Given the description of an element on the screen output the (x, y) to click on. 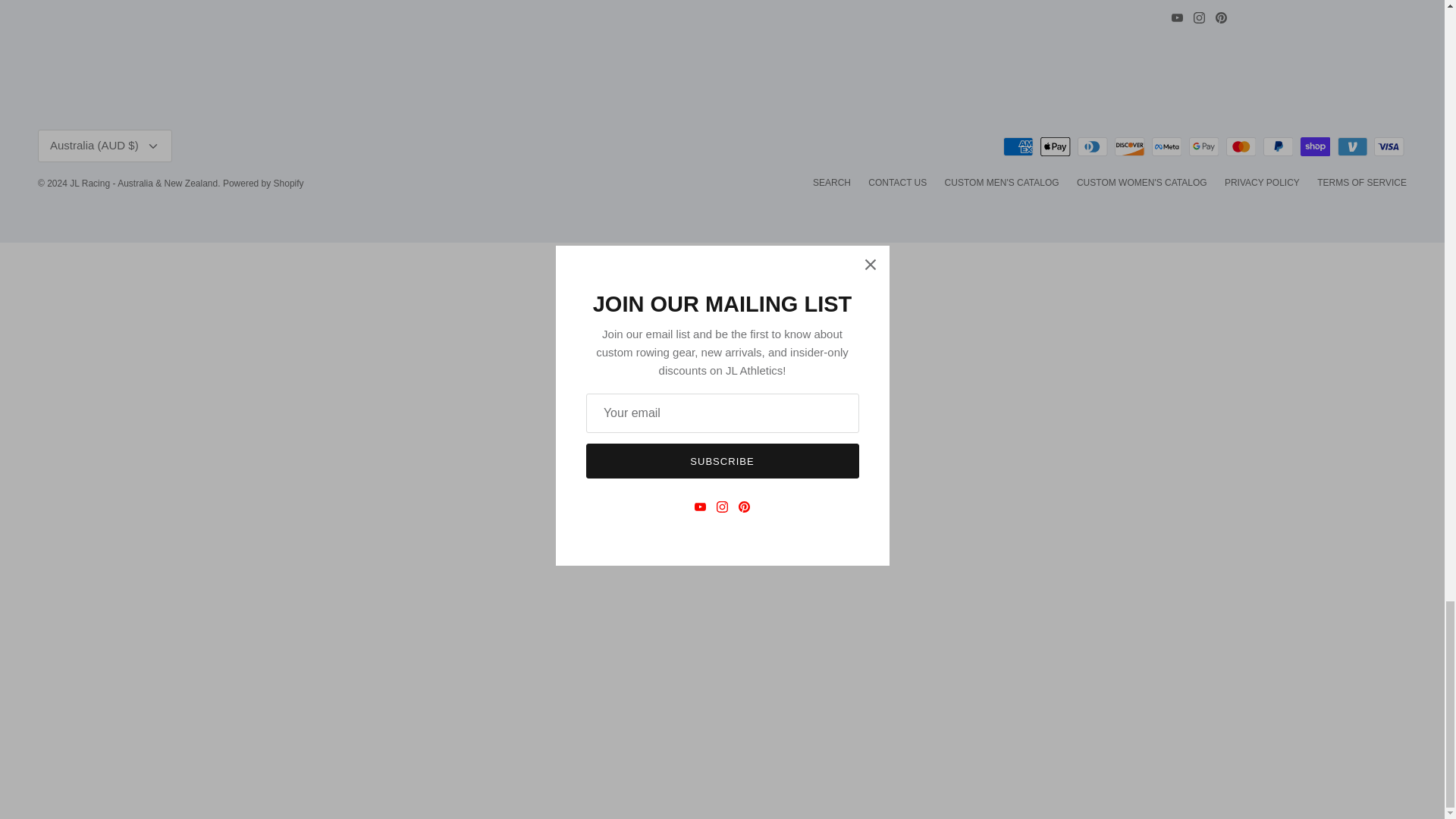
Diners Club (1092, 146)
Apple Pay (1055, 146)
American Express (1018, 146)
Instagram (1199, 17)
Pinterest (1221, 17)
Discover (1129, 146)
Youtube (1177, 17)
